Given the description of an element on the screen output the (x, y) to click on. 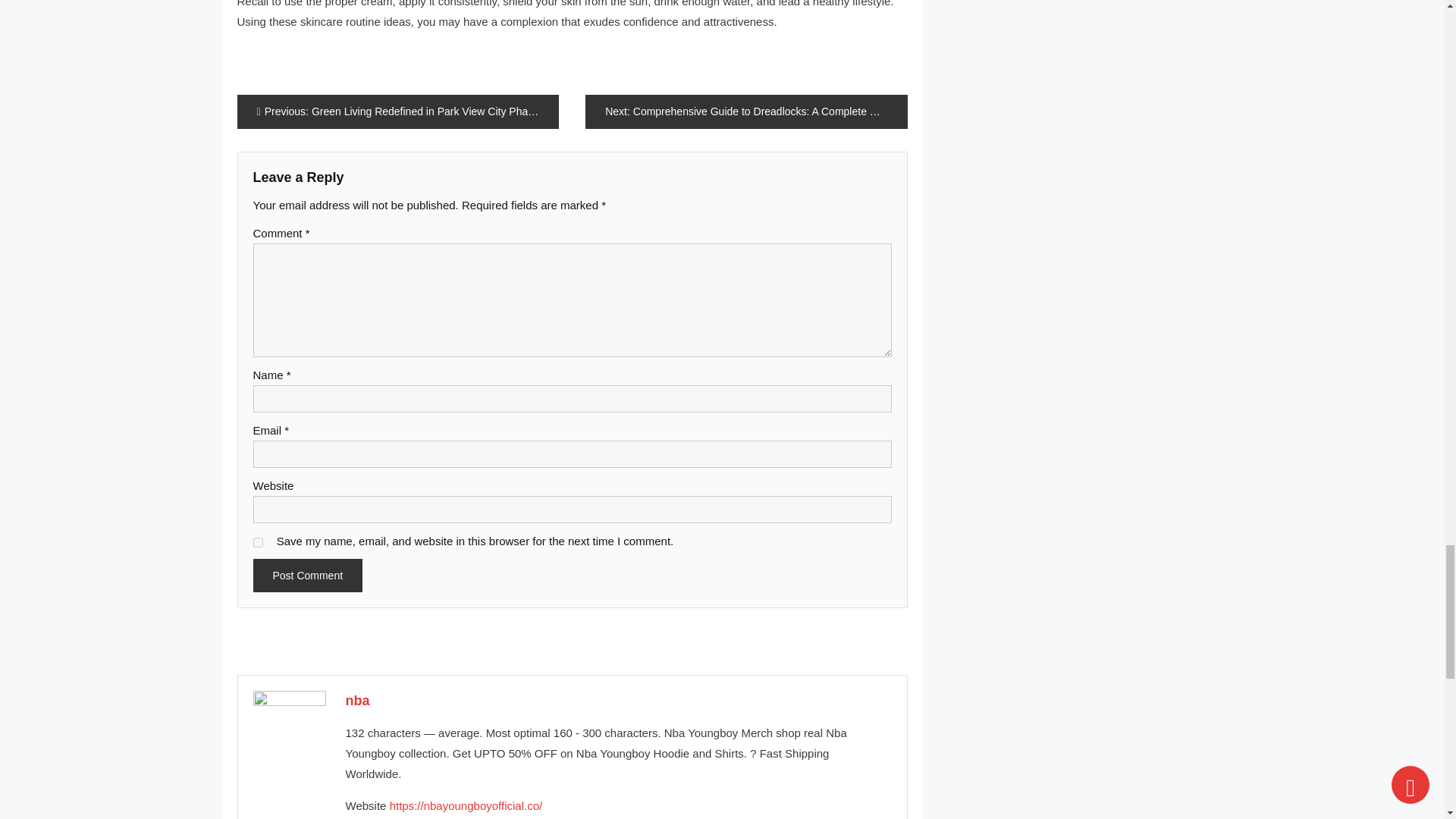
nba (357, 700)
Next: Comprehensive Guide to Dreadlocks: A Complete Overview (746, 111)
Previous: Green Living Redefined in Park View City Phase 2 (396, 111)
Post Comment (307, 575)
Posts by nba (357, 700)
yes (258, 542)
Post Comment (307, 575)
